Given the description of an element on the screen output the (x, y) to click on. 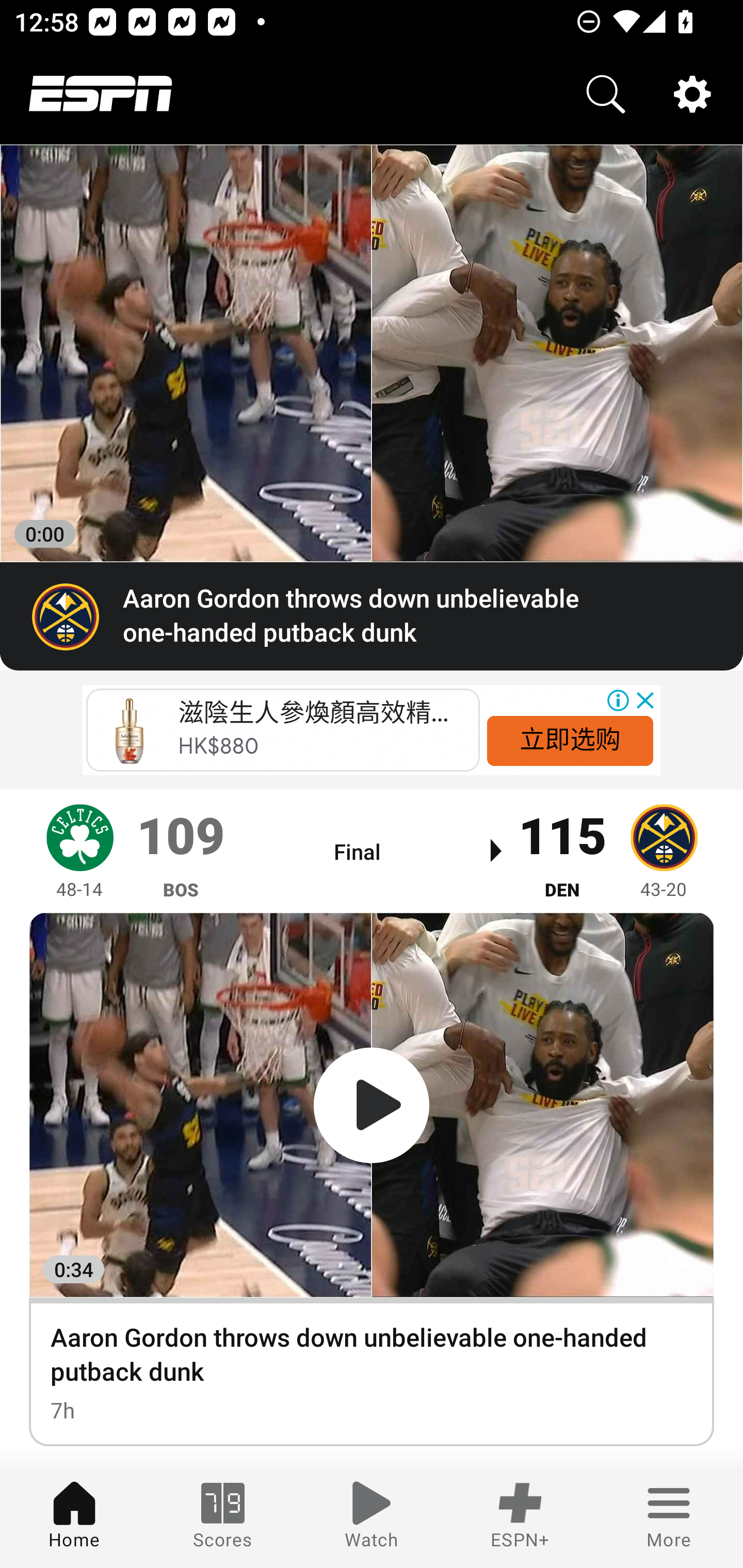
Search (605, 93)
Settings (692, 93)
滋陰生人參煥顏高效精… (312, 713)
立即选购 (570, 740)
HK$880 (218, 746)
Scores (222, 1517)
Watch (371, 1517)
ESPN+ (519, 1517)
More (668, 1517)
